Given the description of an element on the screen output the (x, y) to click on. 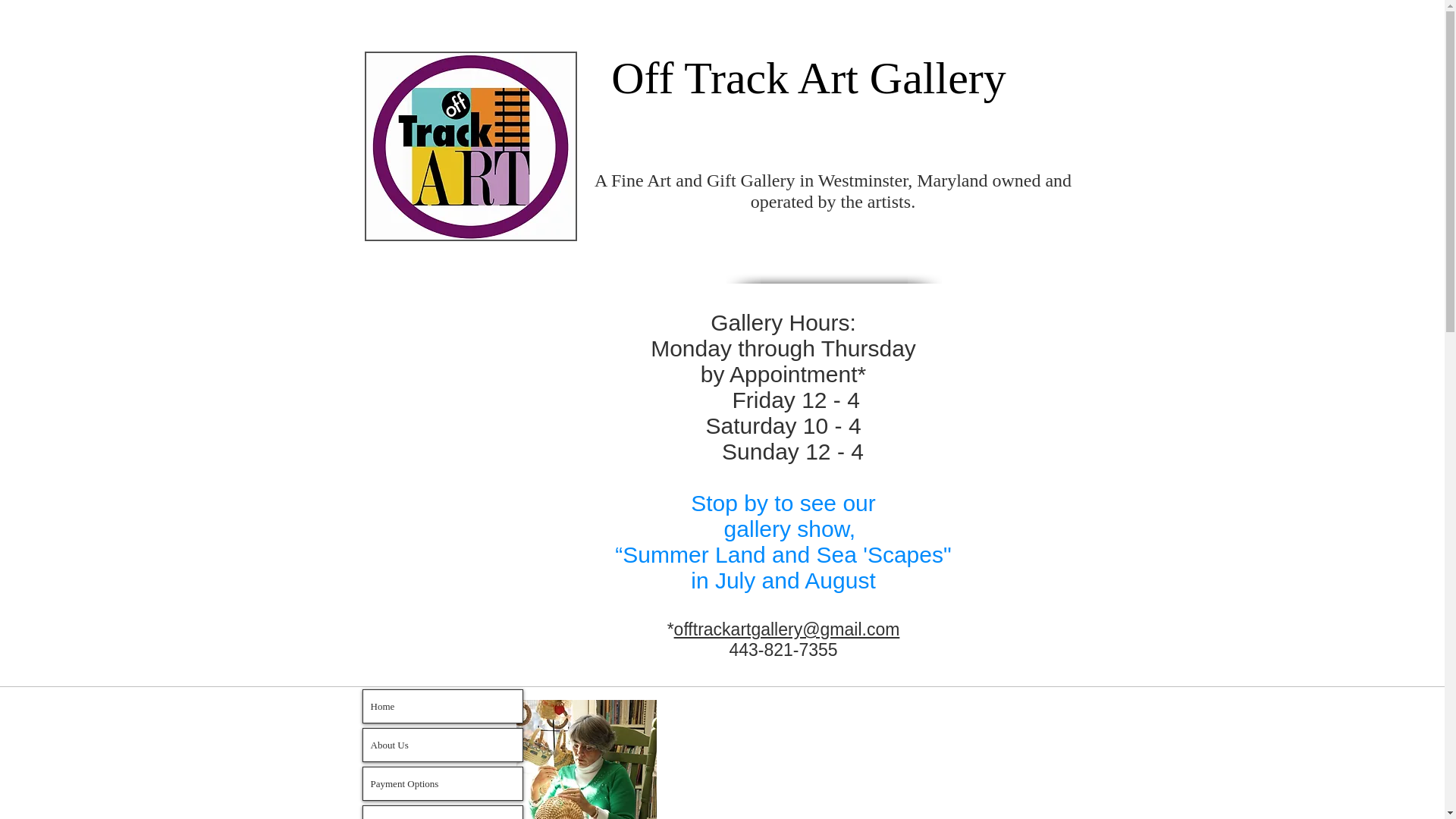
Instructional OTA Classes (441, 812)
Home (441, 706)
About Us (441, 744)
Payment Options (441, 783)
